Given the description of an element on the screen output the (x, y) to click on. 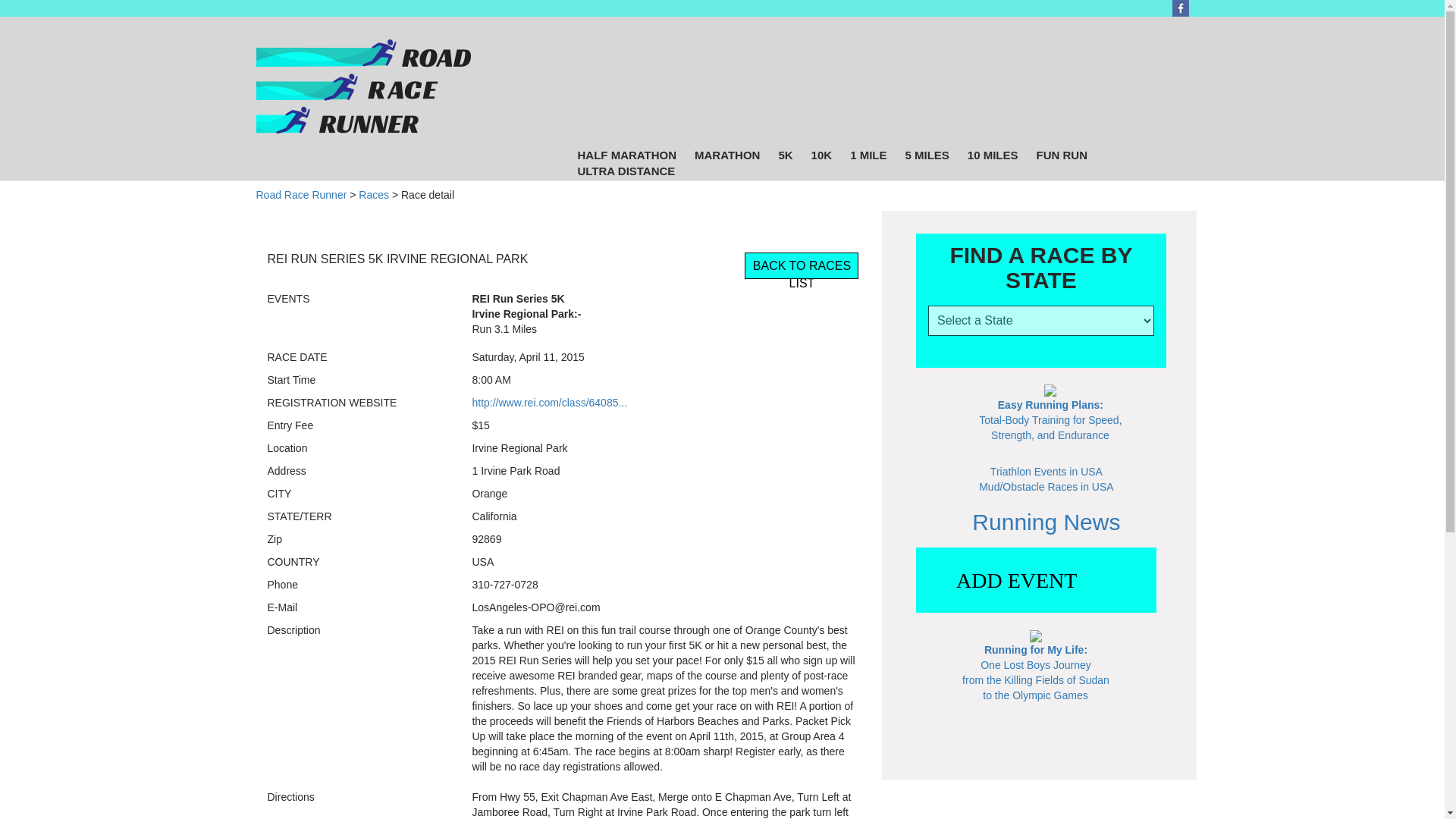
BACK TO RACES LIST (801, 265)
Go to Road Race Runner. (301, 194)
Races (373, 194)
Running News (1045, 521)
ADD EVENT (1035, 580)
Triathlon Events in USA (1046, 471)
HALF MARATHON (626, 154)
10K (821, 154)
10 MILES (992, 154)
Go to Races. (373, 194)
Road Race Runner (301, 194)
1 MILE (868, 154)
5 MILES (926, 154)
